Given the description of an element on the screen output the (x, y) to click on. 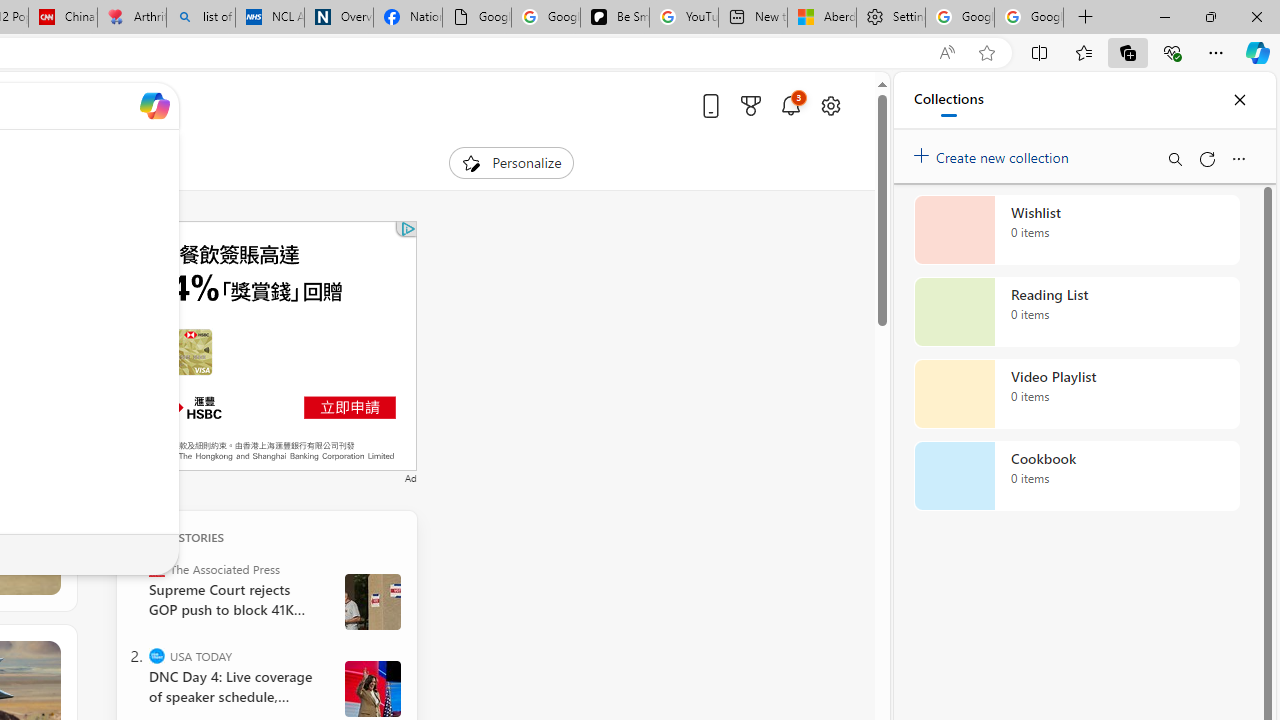
NCL Adult Asthma Inhaler Choice Guideline (269, 17)
More options menu (1238, 158)
